Given the description of an element on the screen output the (x, y) to click on. 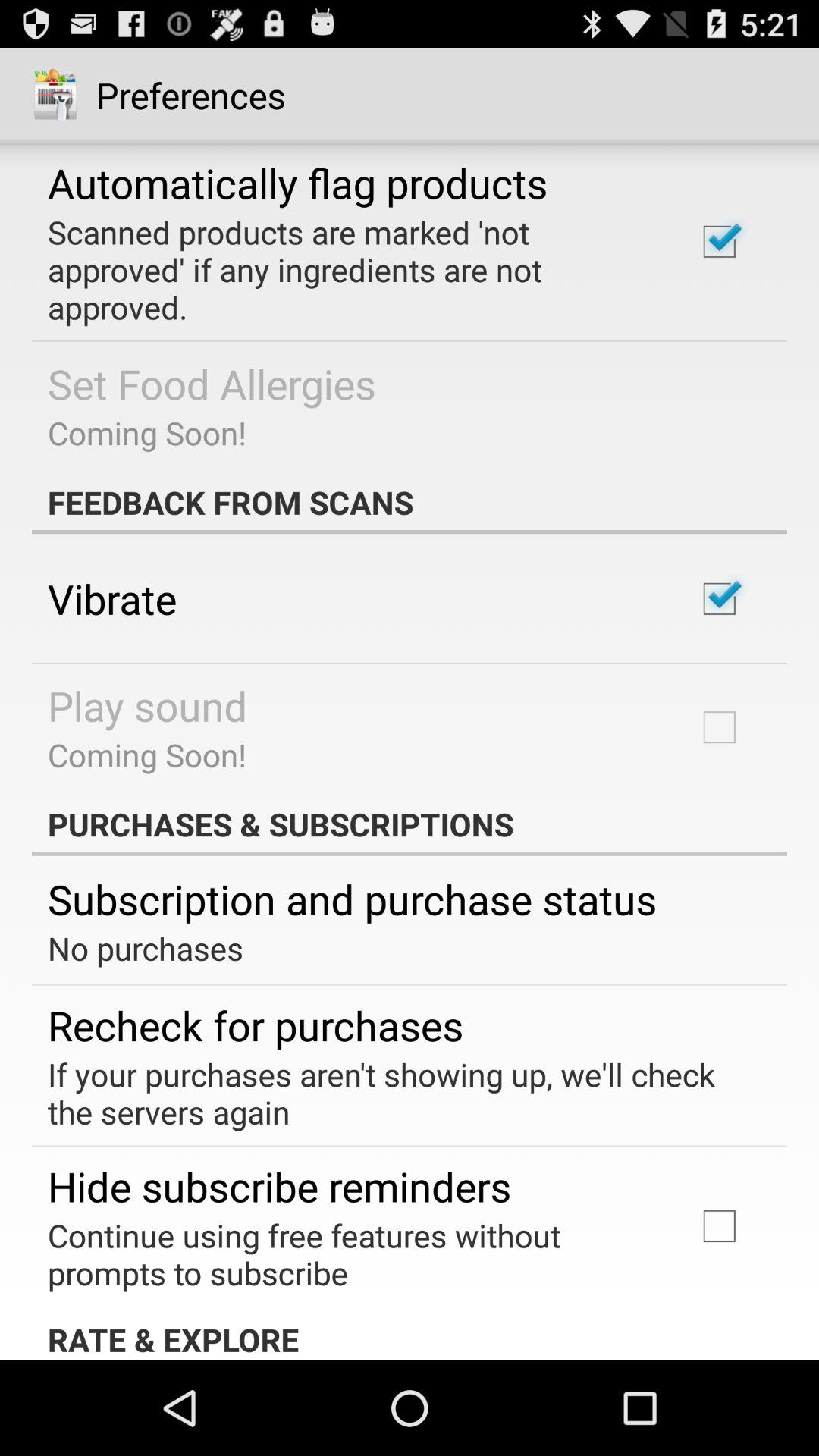
turn off icon at the bottom left corner (255, 1024)
